Given the description of an element on the screen output the (x, y) to click on. 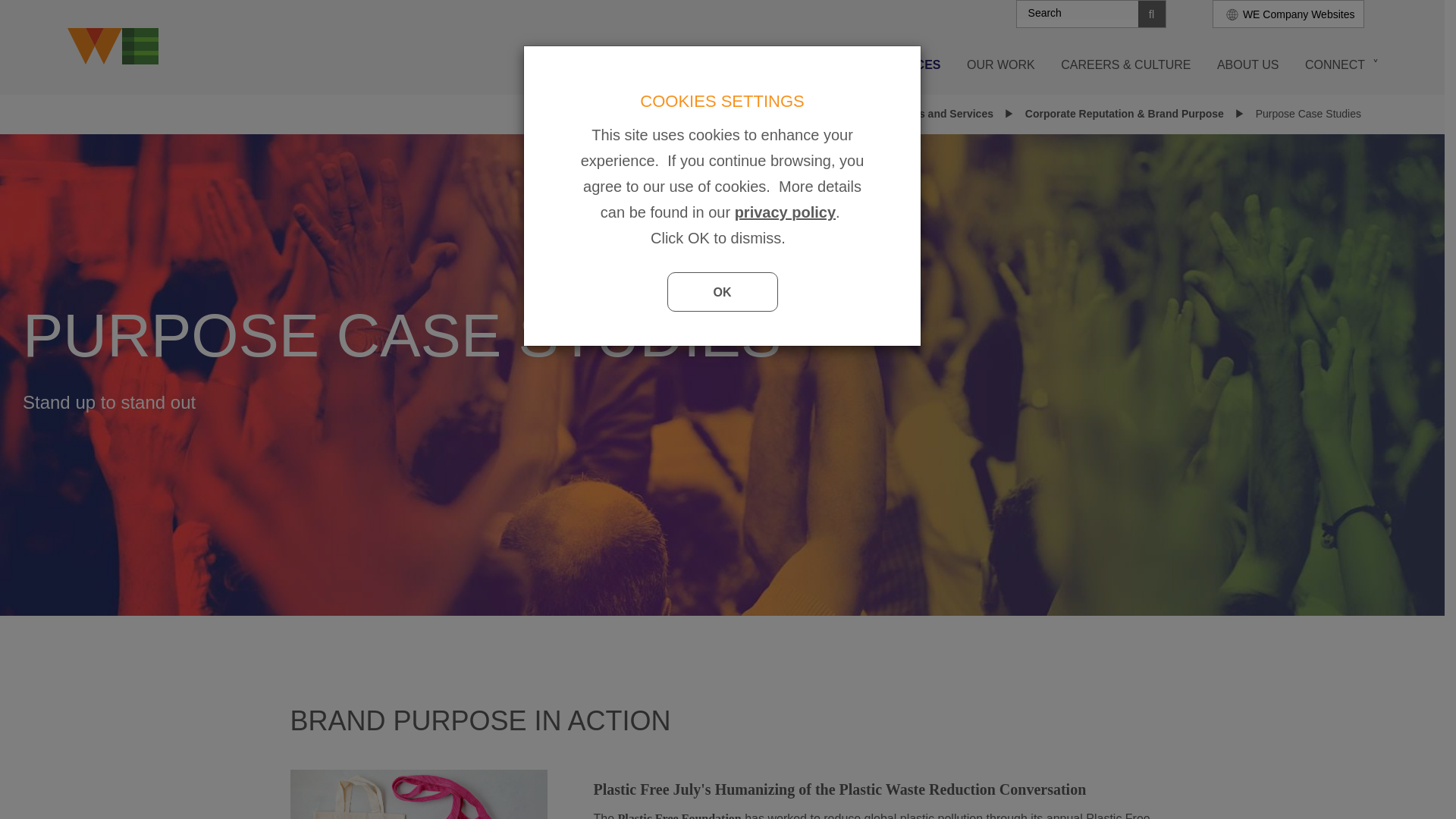
SERVICES (909, 58)
ABOUT US (1247, 58)
INSIGHTS (824, 58)
CONNECT (1334, 58)
Privacy Policy (785, 211)
OUR WORK (1000, 58)
